Given the description of an element on the screen output the (x, y) to click on. 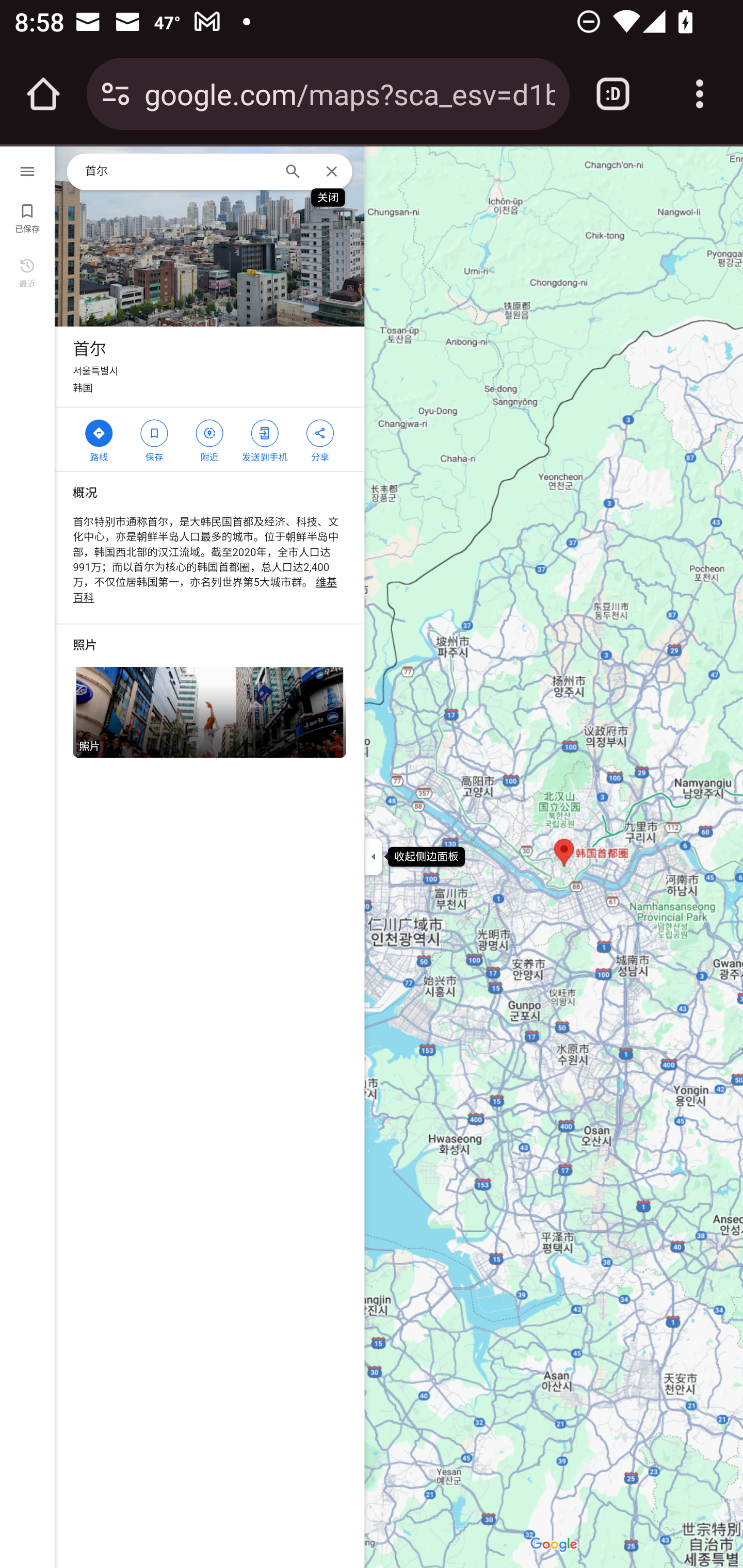
Open the home page (43, 93)
Connection is secure (115, 93)
Switch or close tabs (612, 93)
Customize and control Google Chrome (699, 93)
